Given the description of an element on the screen output the (x, y) to click on. 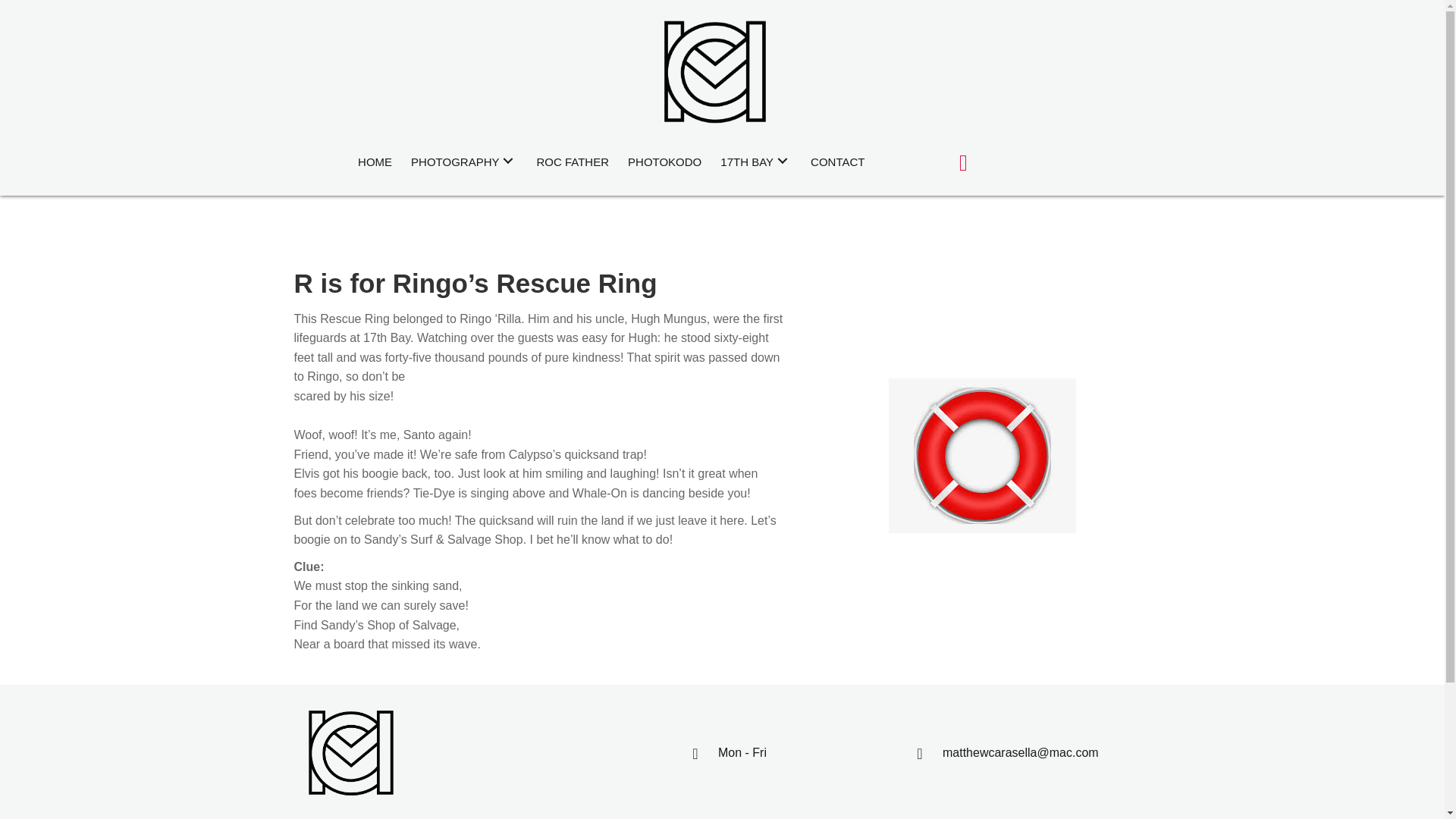
PHOTOKODO (664, 160)
R (981, 455)
17TH BAY (756, 160)
HOME (374, 160)
ROC FATHER (571, 160)
PHOTOGRAPHY (463, 160)
